Given the description of an element on the screen output the (x, y) to click on. 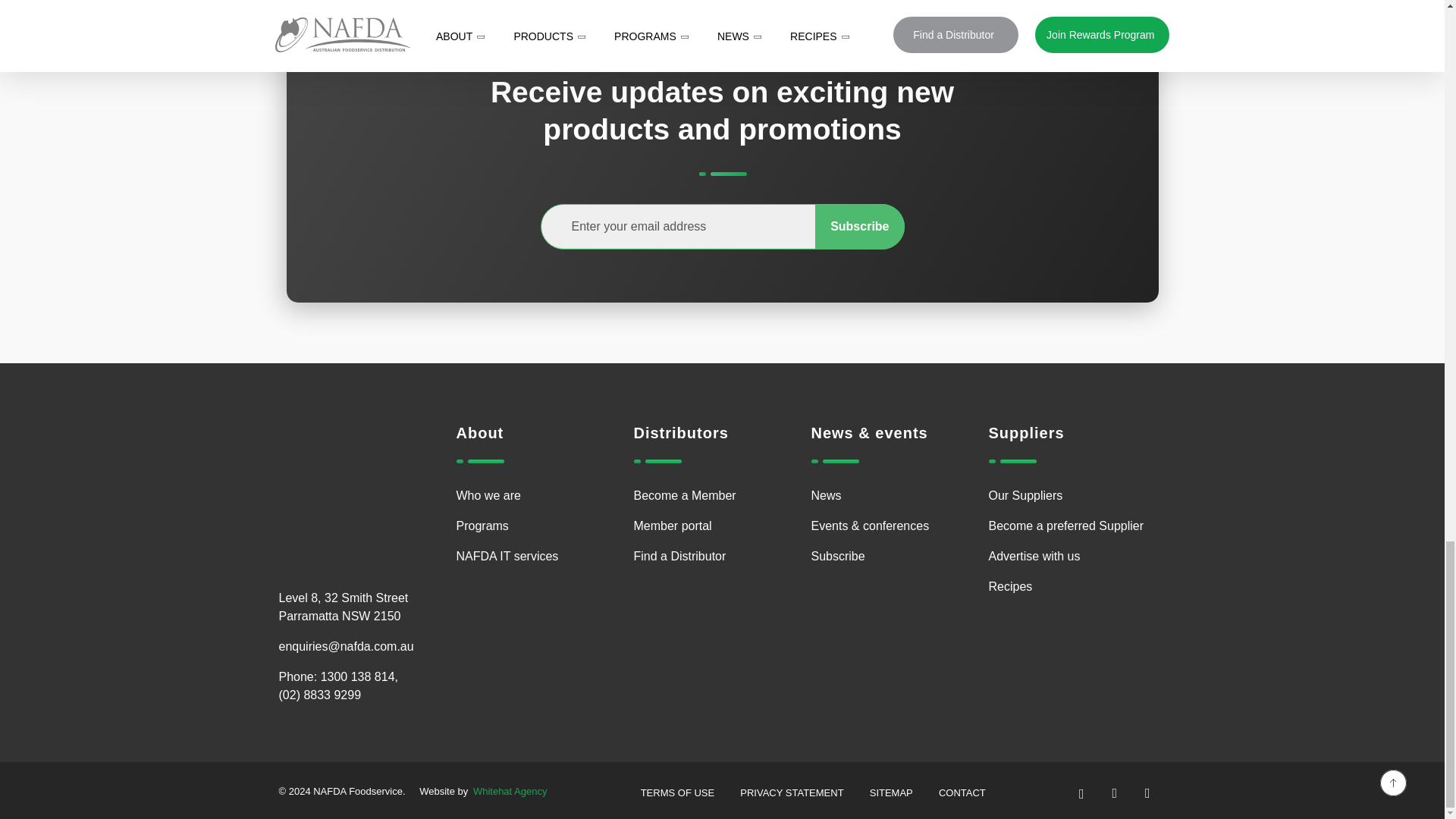
Subscribe (859, 226)
1300 138 814 (357, 676)
Subscribe (859, 226)
